Given the description of an element on the screen output the (x, y) to click on. 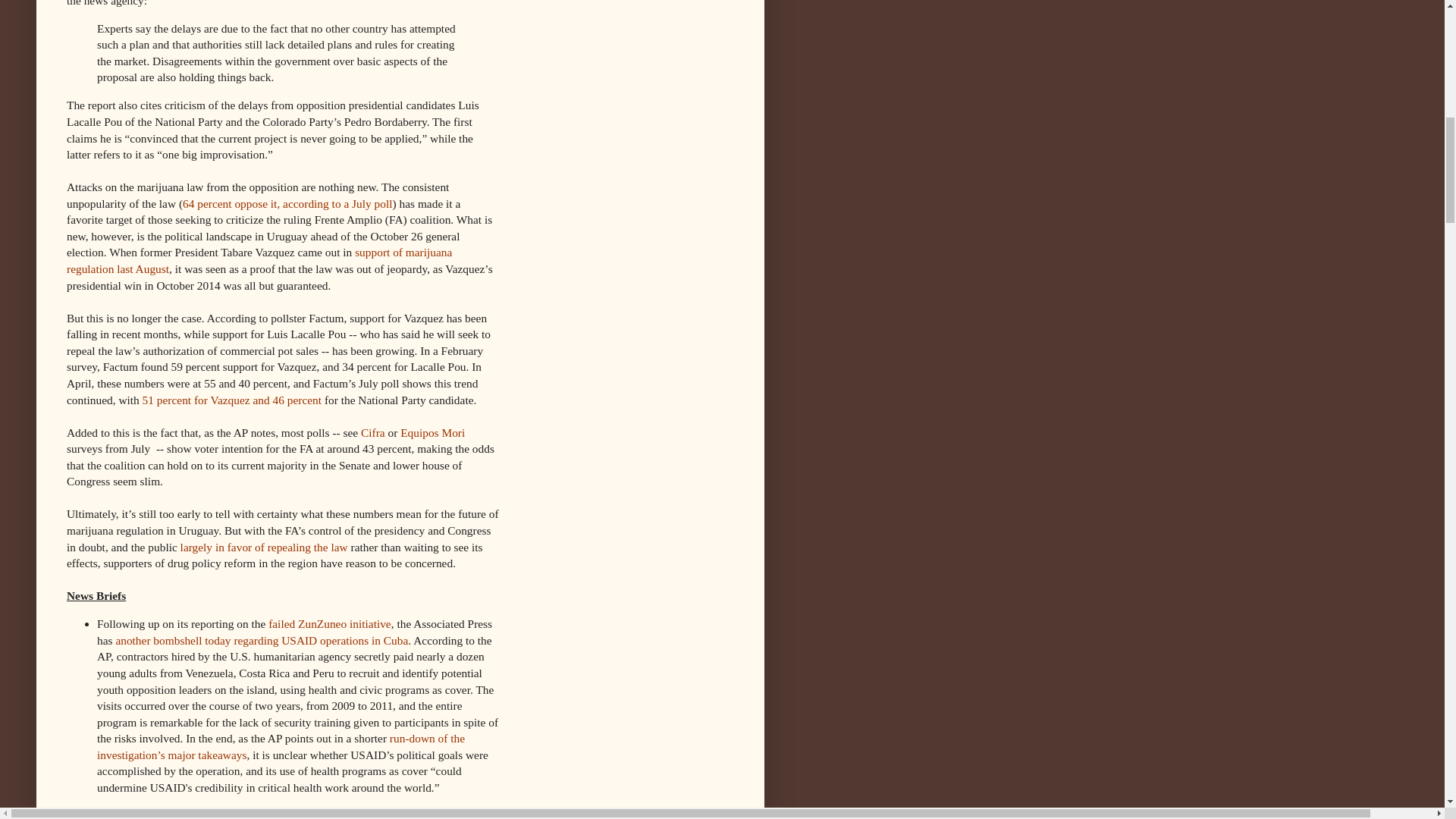
Equipos Mori (432, 431)
failed ZunZuneo initiative (329, 623)
Cifra (373, 431)
support of marijuana regulation last August (258, 260)
another bombshell today regarding USAID operations in Cuba (261, 640)
51 percent for Vazquez and 46 percent (231, 399)
64 percent oppose it, according to a July poll (288, 203)
largely in favor of repealing the law (263, 546)
